Given the description of an element on the screen output the (x, y) to click on. 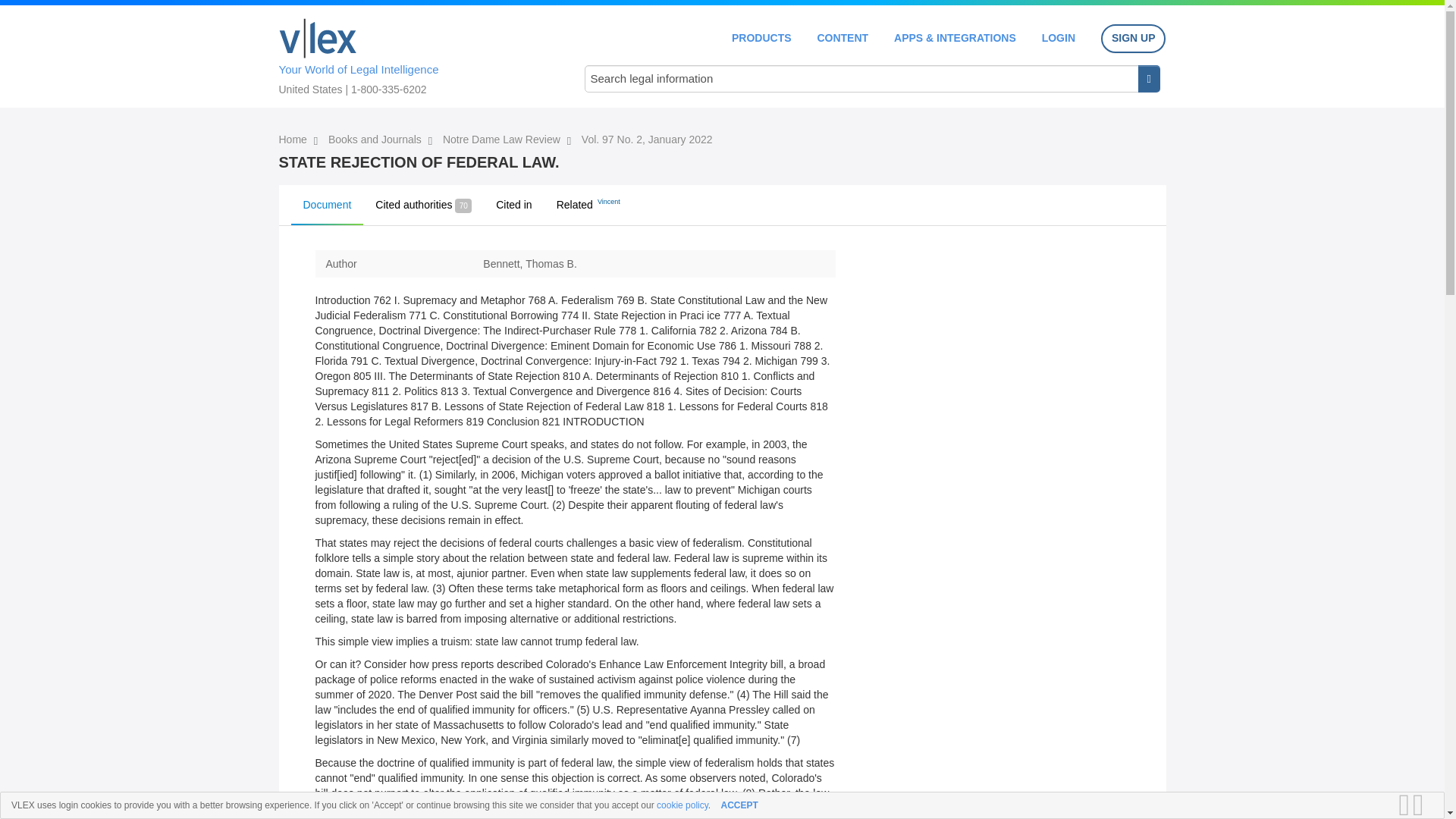
LOGIN (1058, 37)
PRODUCTS (762, 37)
Home (317, 38)
SIGN UP (1133, 38)
Home (294, 139)
cookie policy (681, 805)
CLOSE (1422, 805)
Books and Journals (377, 139)
Your World of Legal Intelligence (416, 53)
CONTENT (841, 37)
ACCEPT (739, 805)
Vol. 97 No. 2, January 2022 (646, 139)
Notre Dame Law Review (502, 139)
